Given the description of an element on the screen output the (x, y) to click on. 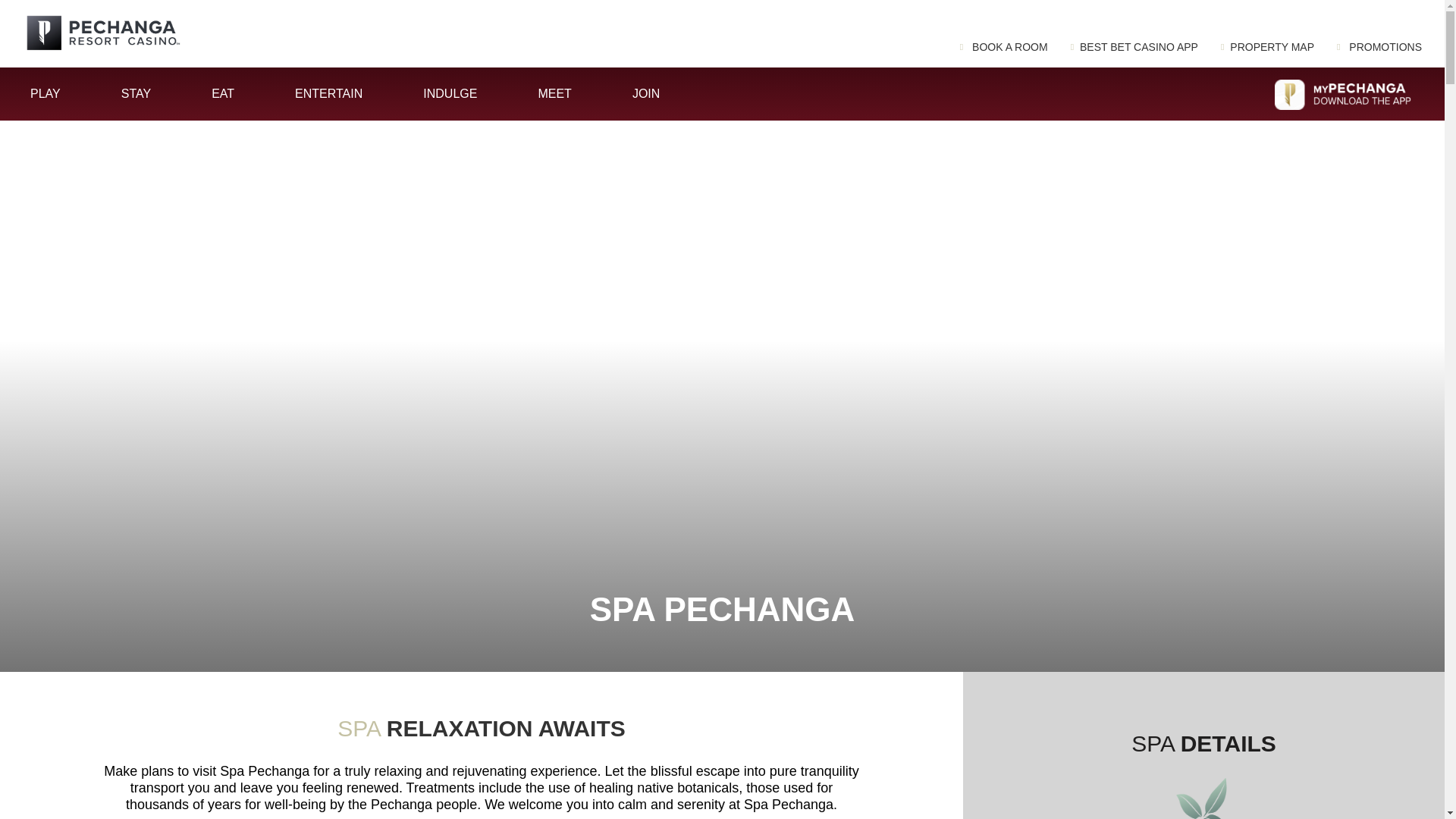
PROMOTIONS (1379, 46)
BOOK A ROOM (1003, 46)
BEST BET CASINO APP (1134, 46)
PLAY (45, 93)
STAY (135, 93)
PROPERTY MAP (1267, 46)
ENTERTAIN (328, 93)
EAT (222, 93)
